Given the description of an element on the screen output the (x, y) to click on. 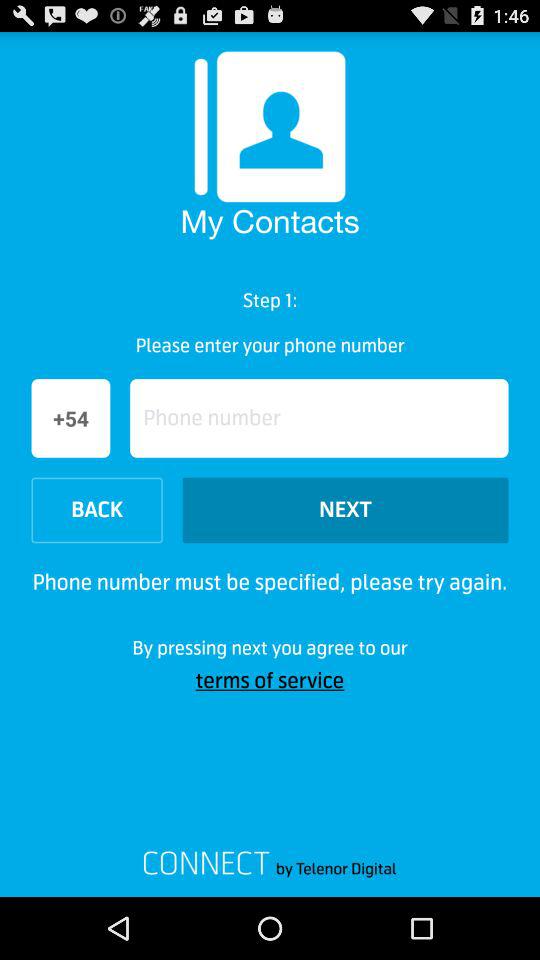
phone number entry box (319, 417)
